Given the description of an element on the screen output the (x, y) to click on. 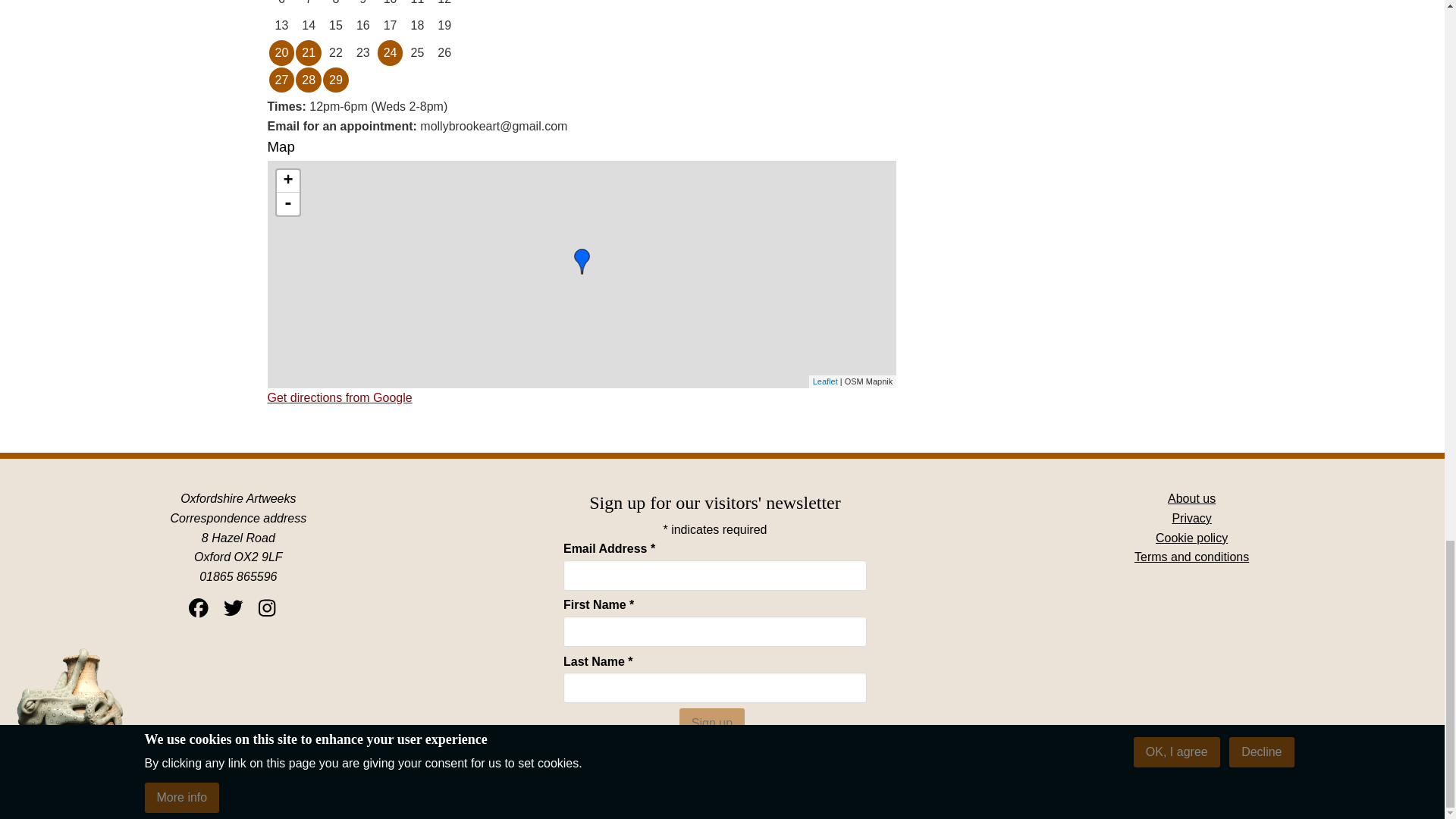
Visit Abby Mason's venue (760, 756)
Zoom out (287, 203)
A JS library for interactive maps (825, 380)
Leaflet (825, 380)
Get directions from Google (339, 397)
Sign up (711, 723)
Follow us on Facebook (198, 608)
Follow us on Twitter (233, 608)
Zoom in (287, 180)
- (287, 203)
